Given the description of an element on the screen output the (x, y) to click on. 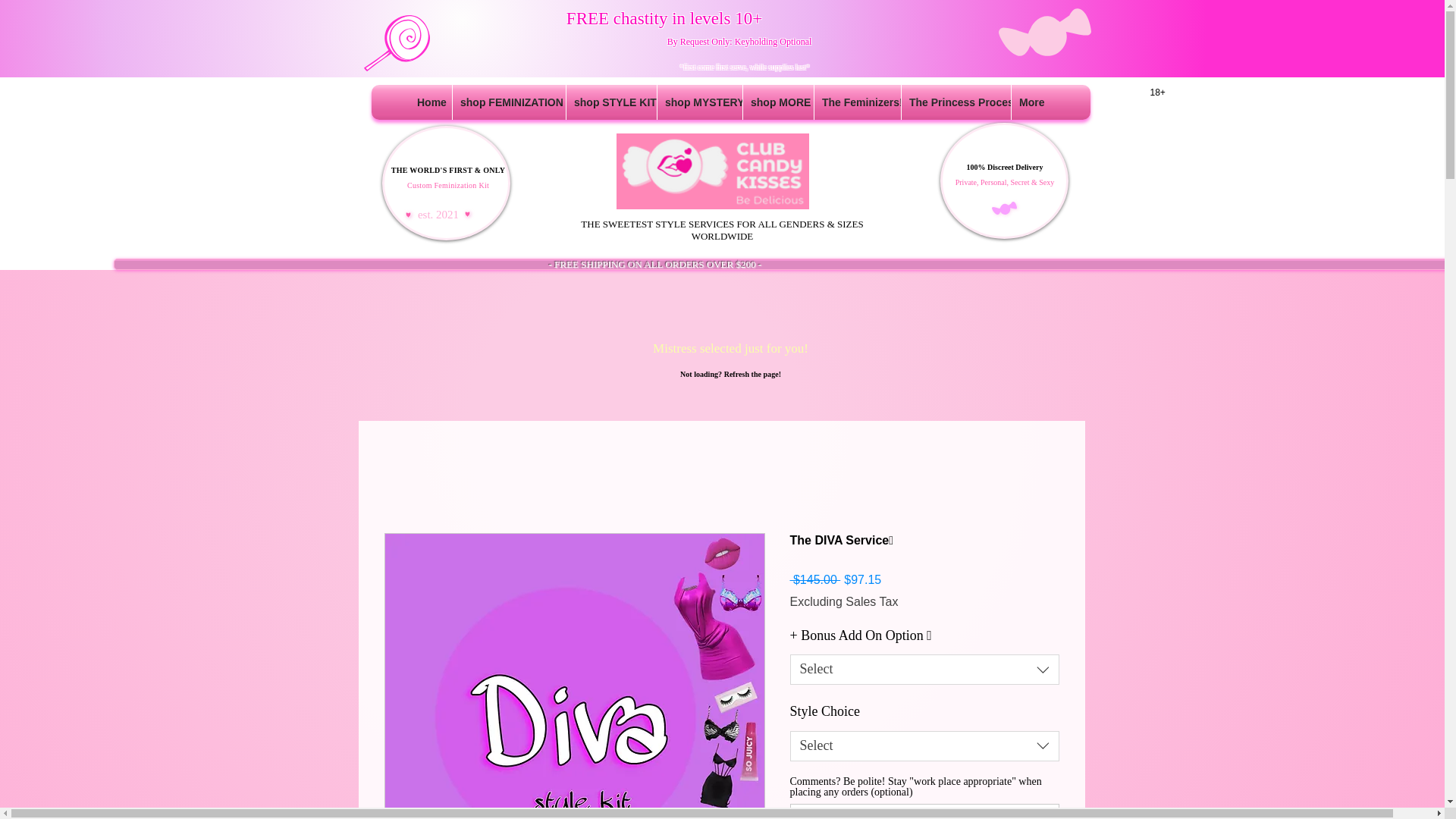
The Feminizers! (857, 102)
The Princess Process (955, 102)
shop MYSTERY (700, 102)
By Request Only: Keyholding Optional (739, 41)
shop STYLE KITS (611, 102)
shop MORE (777, 102)
shop FEMINIZATION (509, 102)
Home (430, 102)
